Given the description of an element on the screen output the (x, y) to click on. 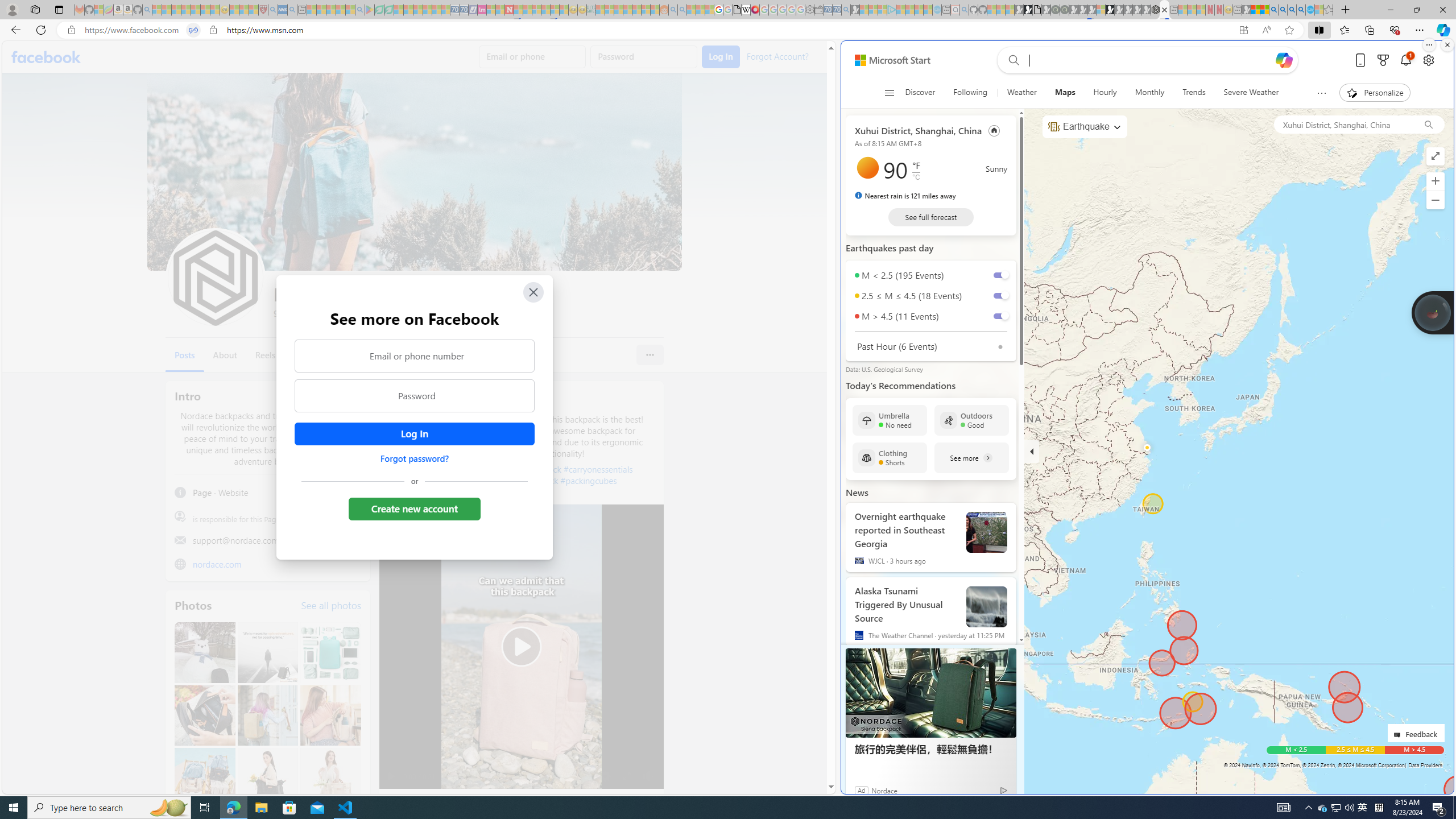
github - Search - Sleeping (964, 9)
